Given the description of an element on the screen output the (x, y) to click on. 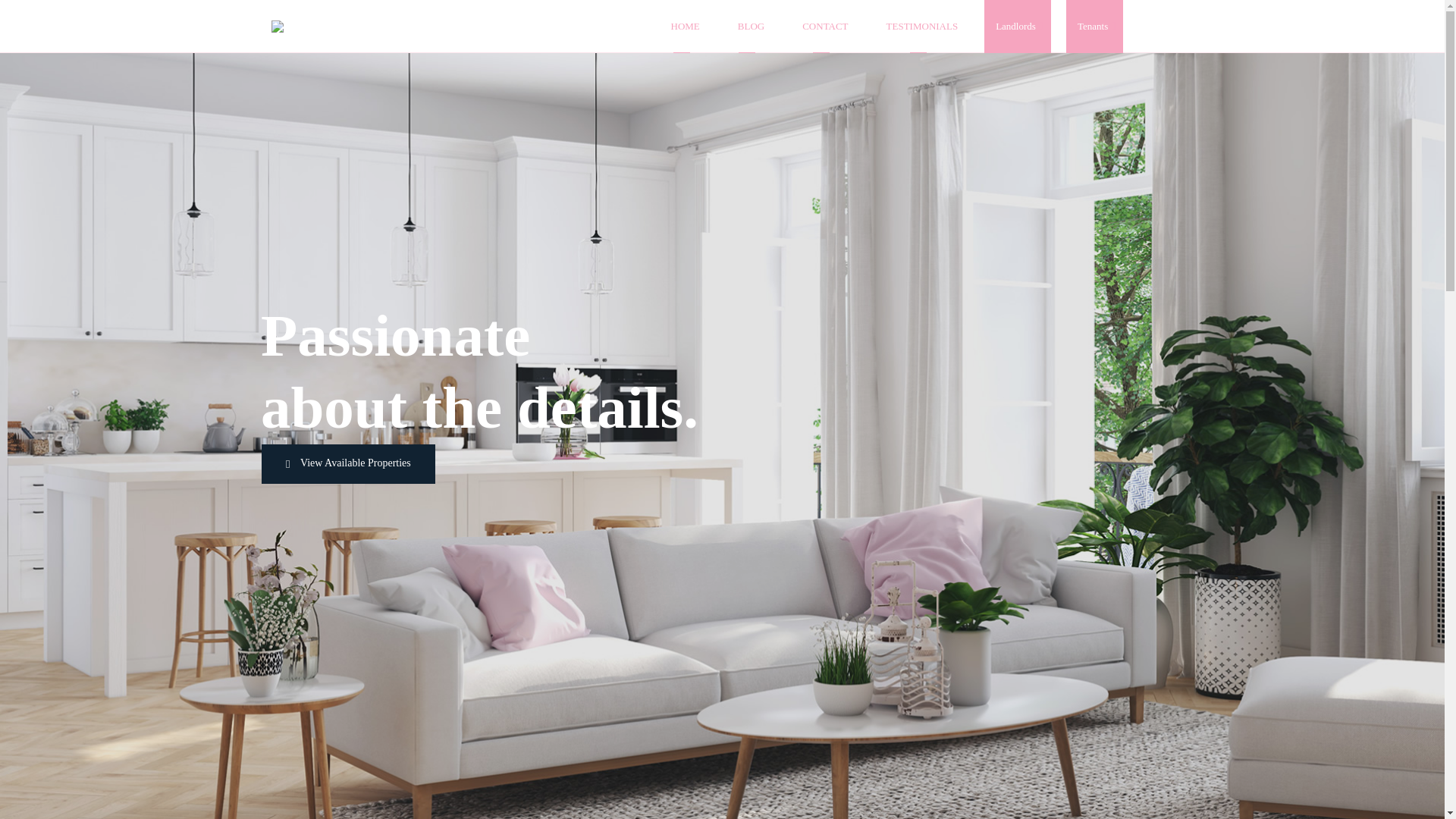
CONTACT Element type: text (824, 26)
HOME Element type: text (685, 26)
TESTIMONIALS Element type: text (922, 26)
View Available Properties Element type: text (348, 463)
BLOG Element type: text (751, 26)
Landlords Element type: text (1017, 26)
Tenants Element type: text (1094, 26)
